Given the description of an element on the screen output the (x, y) to click on. 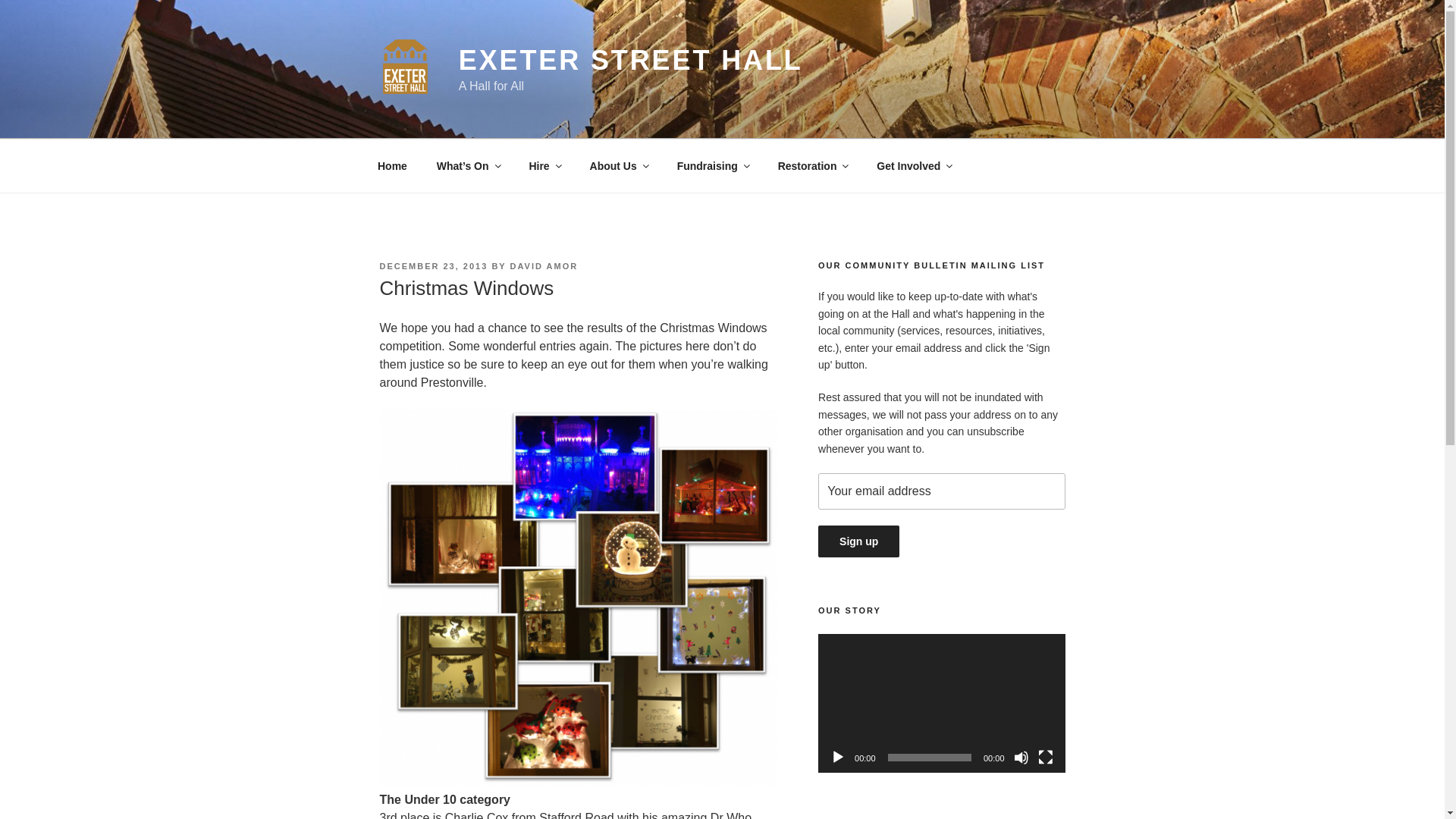
Fullscreen (1044, 757)
Hire (544, 165)
Home (392, 165)
EXETER STREET HALL (630, 60)
Play (837, 757)
Mute (1020, 757)
Sign up (858, 541)
About Us (618, 165)
